Given the description of an element on the screen output the (x, y) to click on. 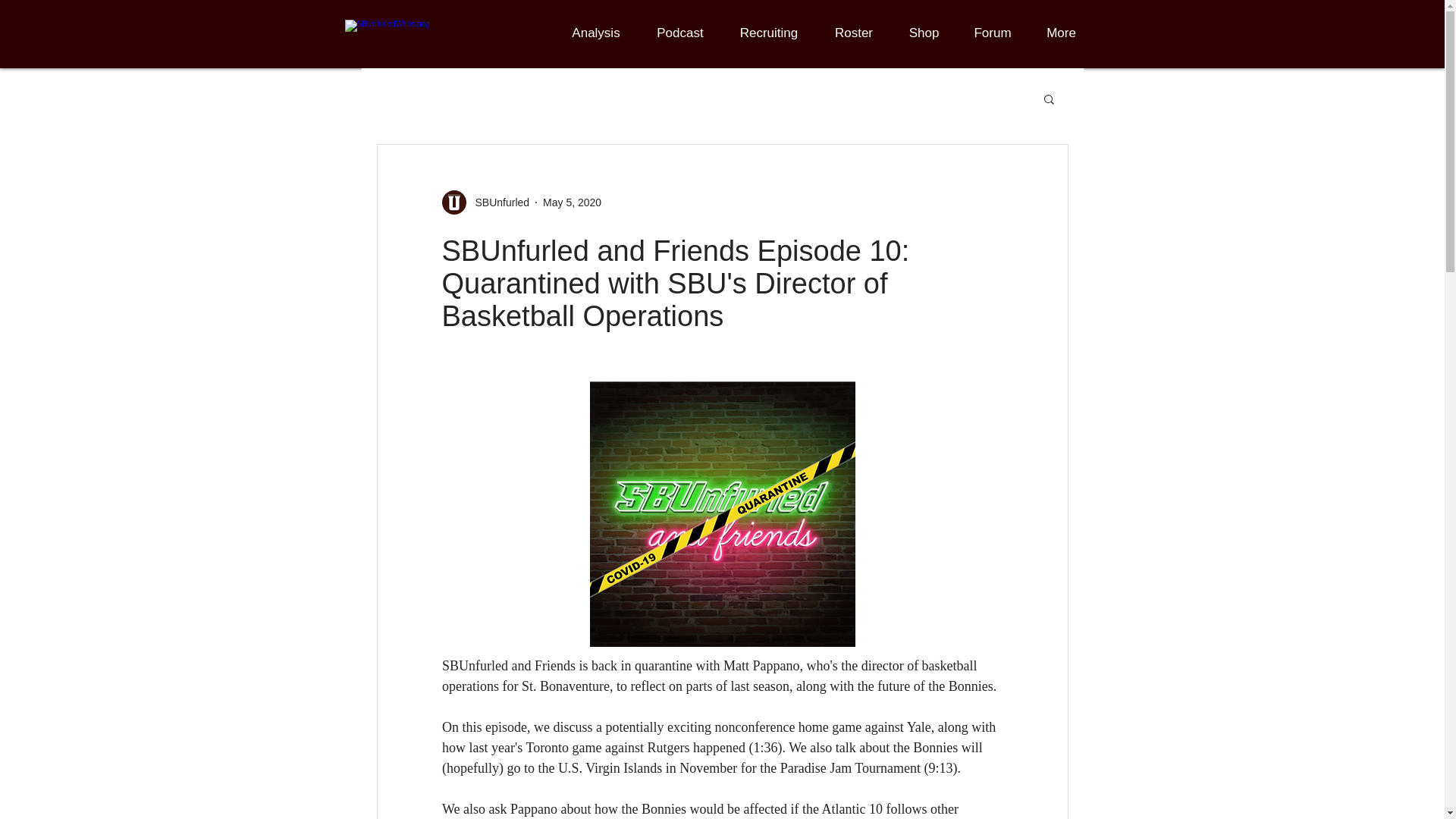
Recruiting (769, 32)
May 5, 2020 (572, 201)
Shop (923, 32)
Analysis (596, 32)
Podcast (679, 32)
Forum (992, 32)
SBUnfurled (485, 202)
SBUnfurled (497, 201)
